Given the description of an element on the screen output the (x, y) to click on. 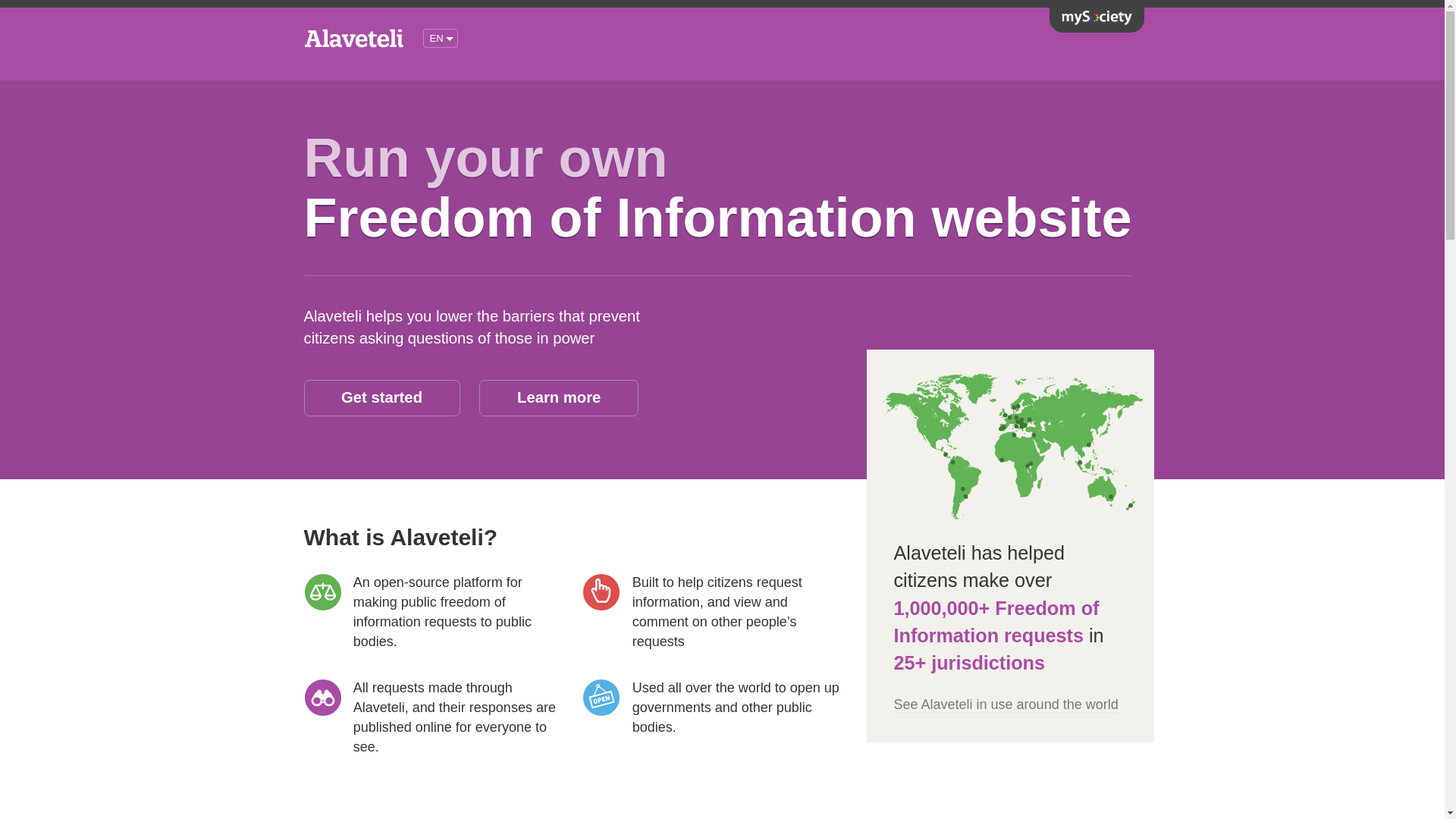
mySociety (1096, 17)
Learn more (558, 397)
See Alaveteli in use around the world (1005, 704)
Alaveteli (355, 43)
Get started (381, 397)
